Given the description of an element on the screen output the (x, y) to click on. 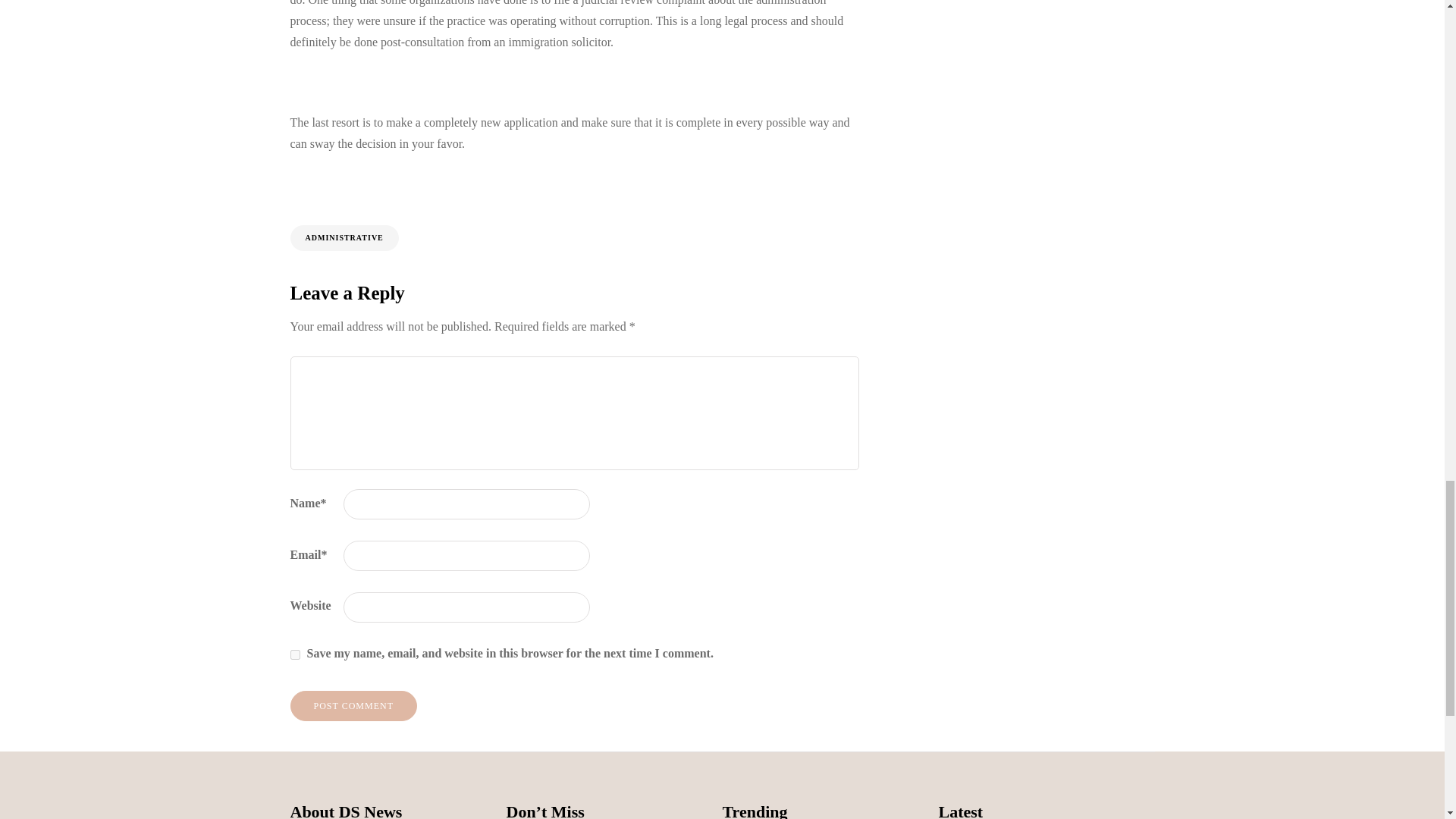
yes (294, 655)
Post comment (352, 706)
ADMINISTRATIVE (343, 237)
